Given the description of an element on the screen output the (x, y) to click on. 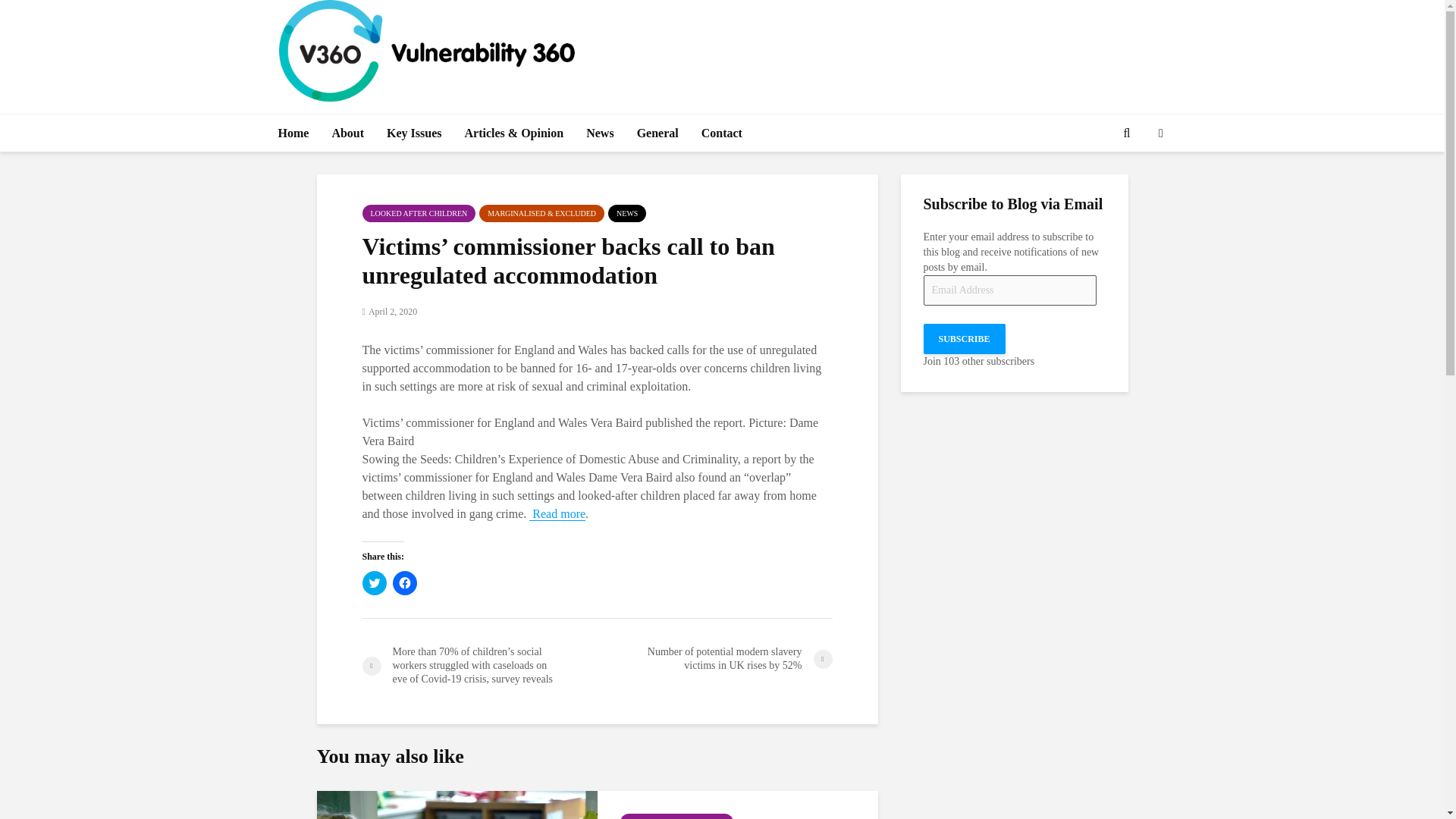
Key Issues (413, 133)
About (347, 133)
Click to share on Facebook (404, 582)
News (599, 133)
Home (293, 133)
Click to share on Twitter (374, 582)
General (658, 133)
Read more (557, 513)
LOOKED AFTER CHILDREN (419, 212)
NEWS (627, 212)
